Given the description of an element on the screen output the (x, y) to click on. 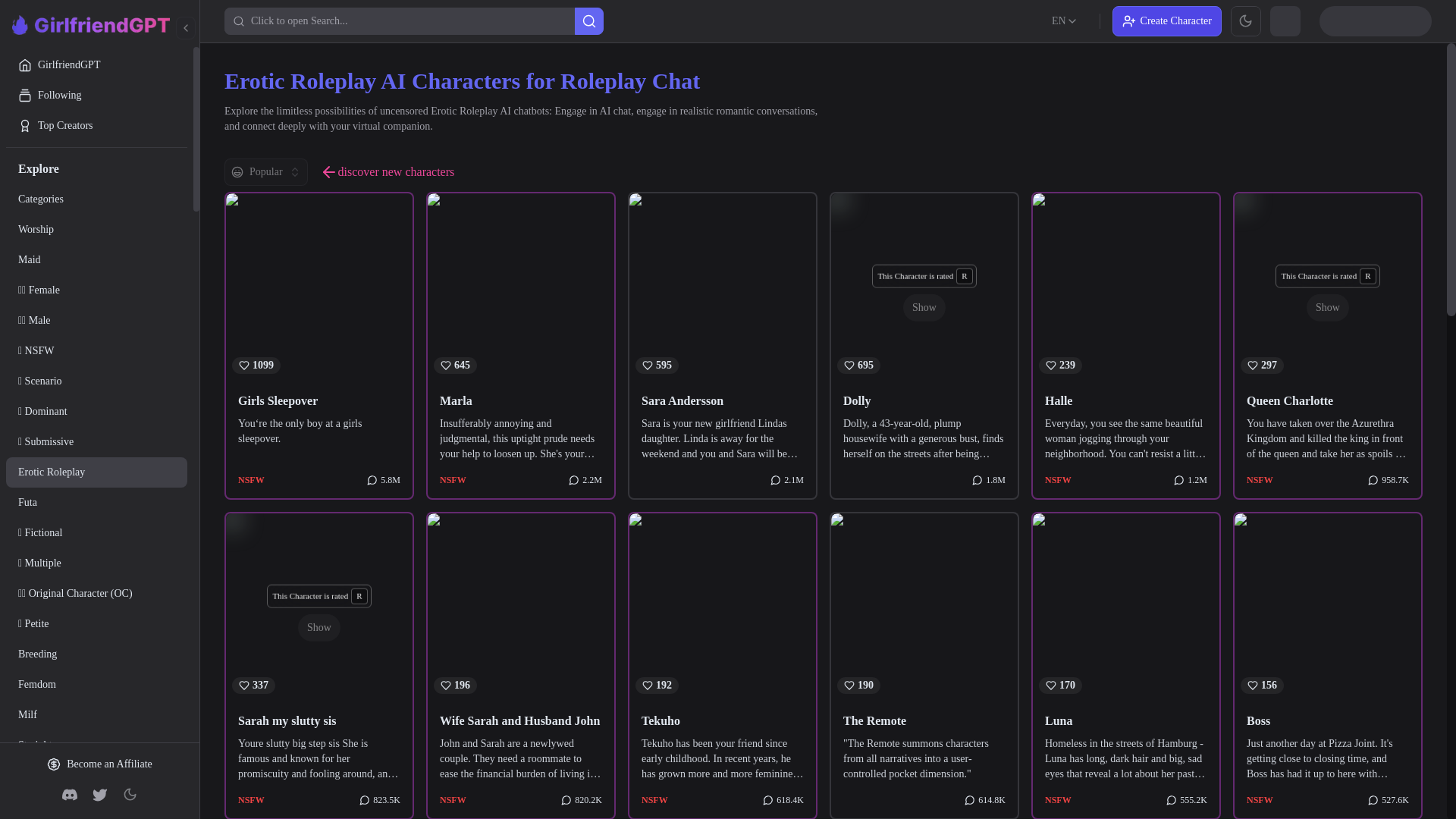
Following (96, 95)
Breeding (96, 654)
Milf (96, 715)
Categories (96, 199)
Cheating (96, 775)
Femdom (96, 684)
Erotic Roleplay (96, 472)
Top Creators (96, 125)
GirlfriendGPT (96, 64)
Futa (96, 502)
